Given the description of an element on the screen output the (x, y) to click on. 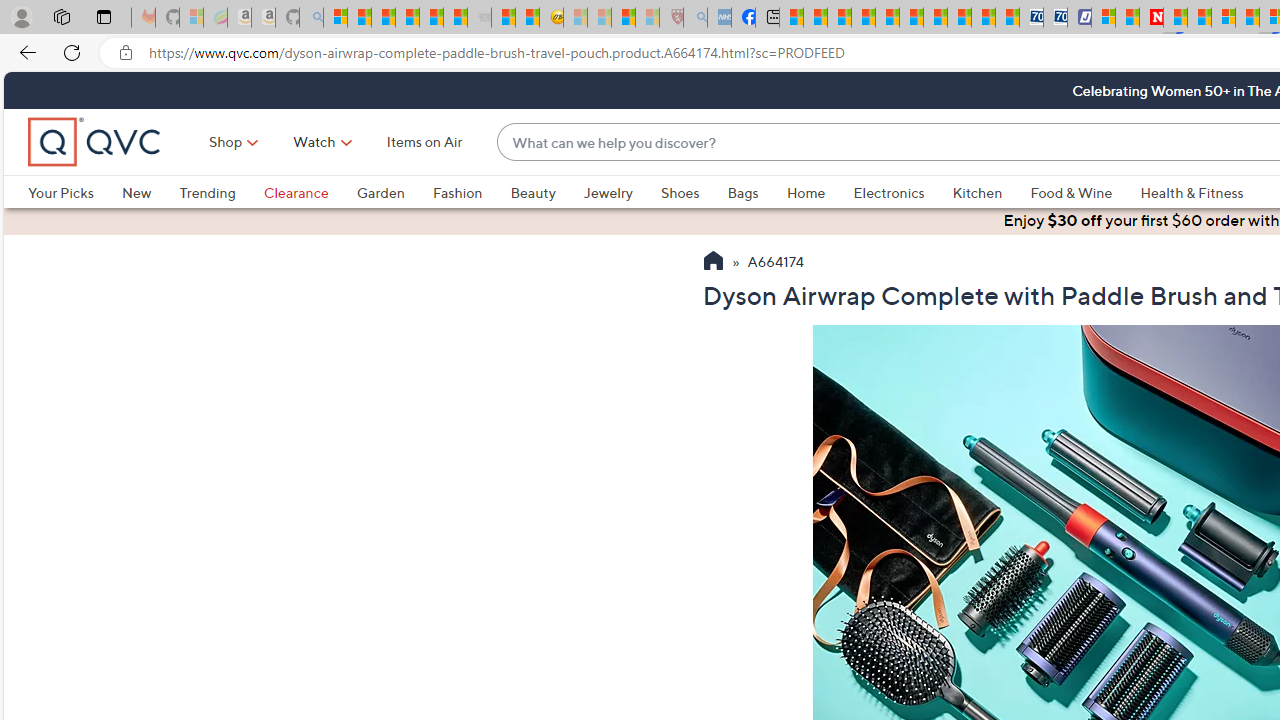
New (150, 192)
QVC home (95, 141)
Beauty (532, 192)
Climate Damage Becomes Too Severe To Reverse (863, 17)
Fashion (457, 192)
Clearance (309, 192)
New Report Confirms 2023 Was Record Hot | Watch (430, 17)
